Given the description of an element on the screen output the (x, y) to click on. 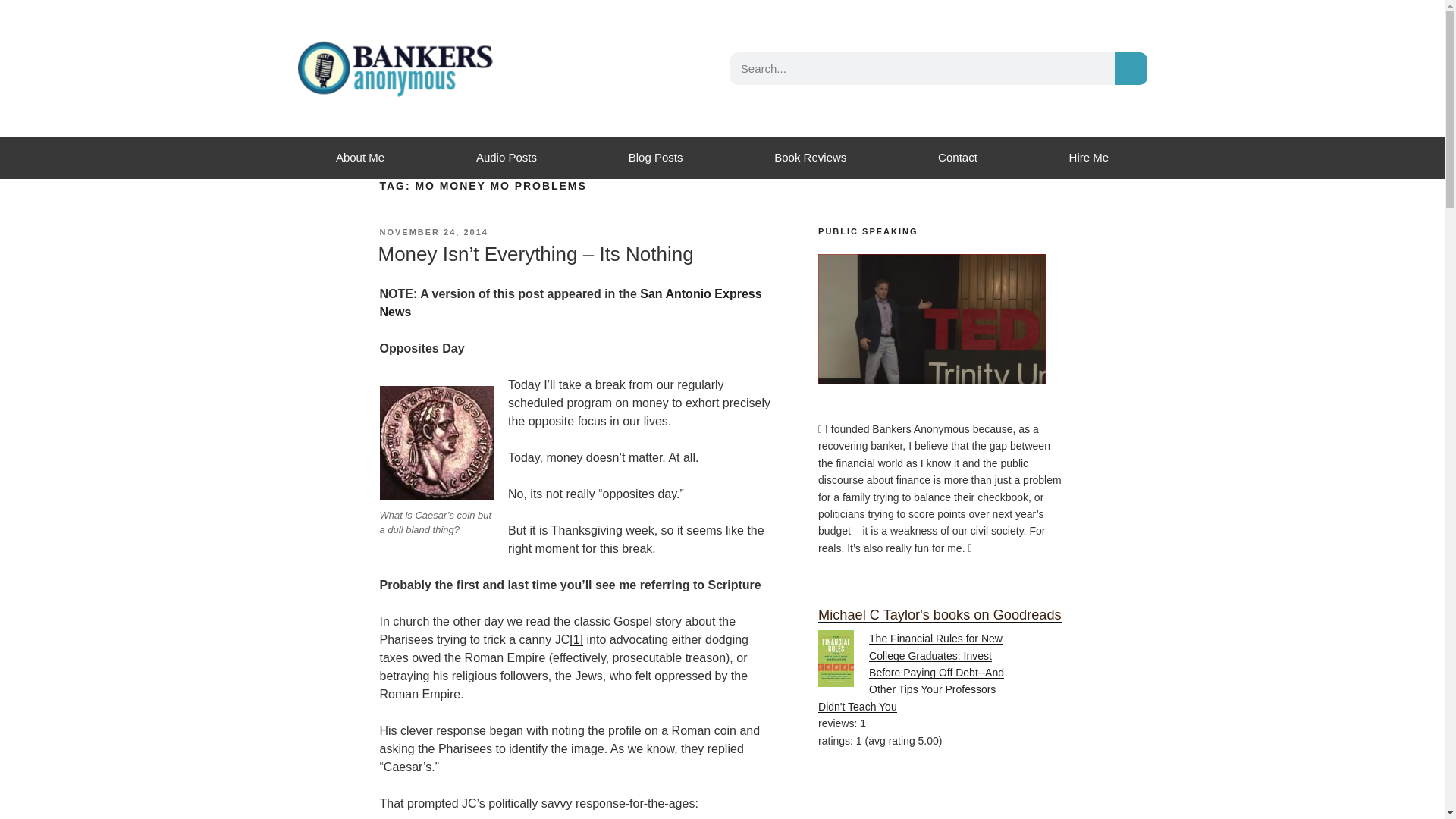
Hire Me (1088, 157)
Contact (957, 157)
Audio Posts (506, 157)
About Me (359, 157)
Blog Posts (655, 157)
Michael C Taylor's books on Goodreads (939, 614)
Book Reviews (810, 157)
San Antonio Express News (569, 302)
NOVEMBER 24, 2014 (432, 231)
